Given the description of an element on the screen output the (x, y) to click on. 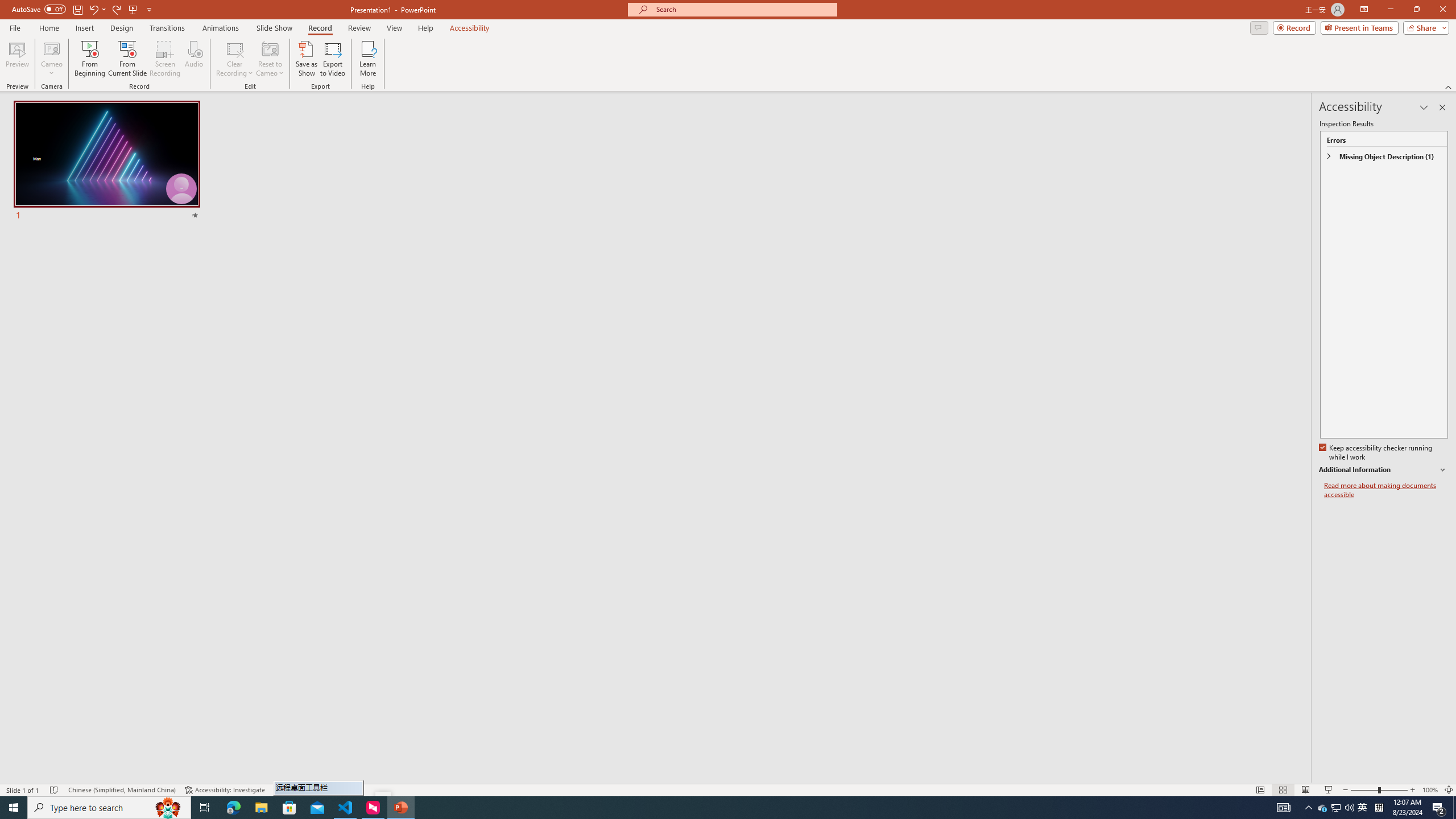
Zoom 100% (1430, 790)
Save as Show (306, 58)
Spell Check No Errors (54, 790)
Accessibility (469, 28)
Additional Information (1383, 469)
Audio (193, 58)
Export to Video (332, 58)
Microsoft search (742, 9)
